Given the description of an element on the screen output the (x, y) to click on. 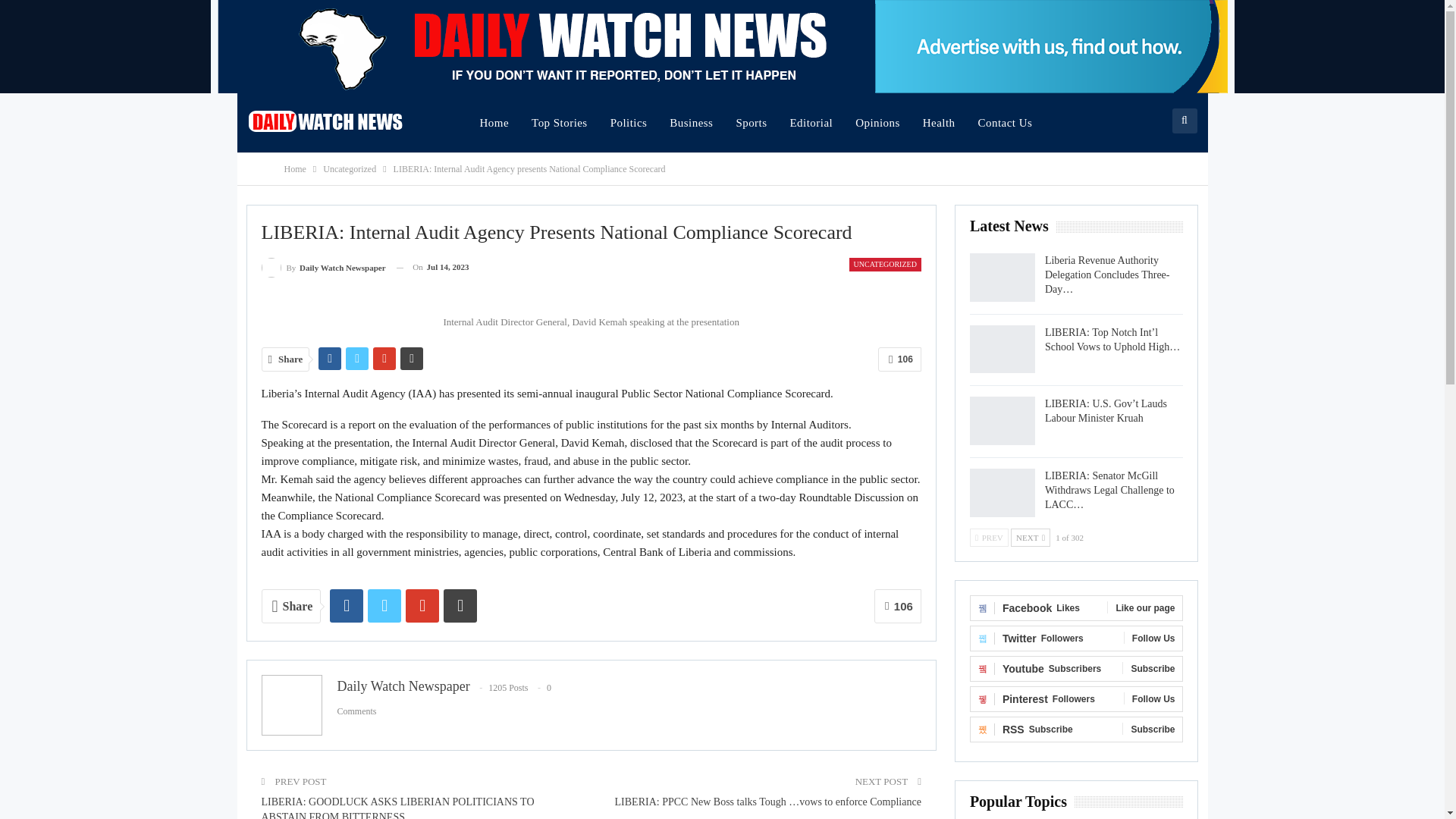
Contact Us (1004, 122)
UNCATEGORIZED (884, 264)
Home (294, 168)
Opinions (877, 122)
Politics (628, 122)
Sports (750, 122)
Top Stories (558, 122)
By Daily Watch Newspaper (322, 267)
Business (690, 122)
